Given the description of an element on the screen output the (x, y) to click on. 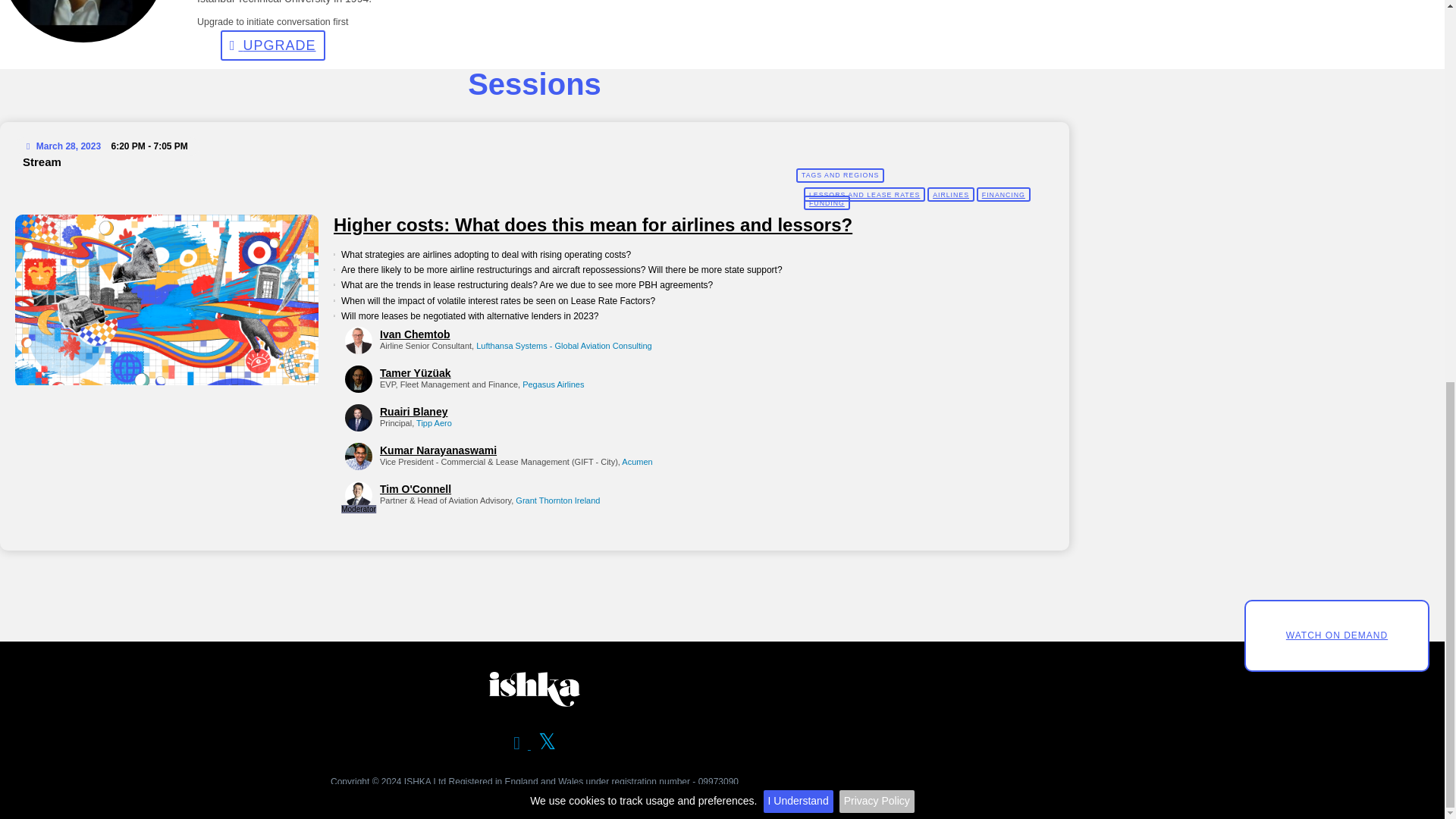
TAGS AND REGIONS (839, 175)
Tim O'Connell (527, 489)
Ivan Chemtob (527, 334)
FUNDING (826, 202)
Higher costs: What does this mean for airlines and lessors? (592, 224)
Ruairi Blaney (527, 411)
WATCH ON DEMAND (1336, 635)
LESSORS AND LEASE RATES (863, 194)
Kumar Narayanaswami (527, 450)
FINANCING (1003, 194)
Privacy Policy (877, 86)
UPGRADE (272, 45)
I Understand (797, 86)
AIRLINES (950, 194)
